Given the description of an element on the screen output the (x, y) to click on. 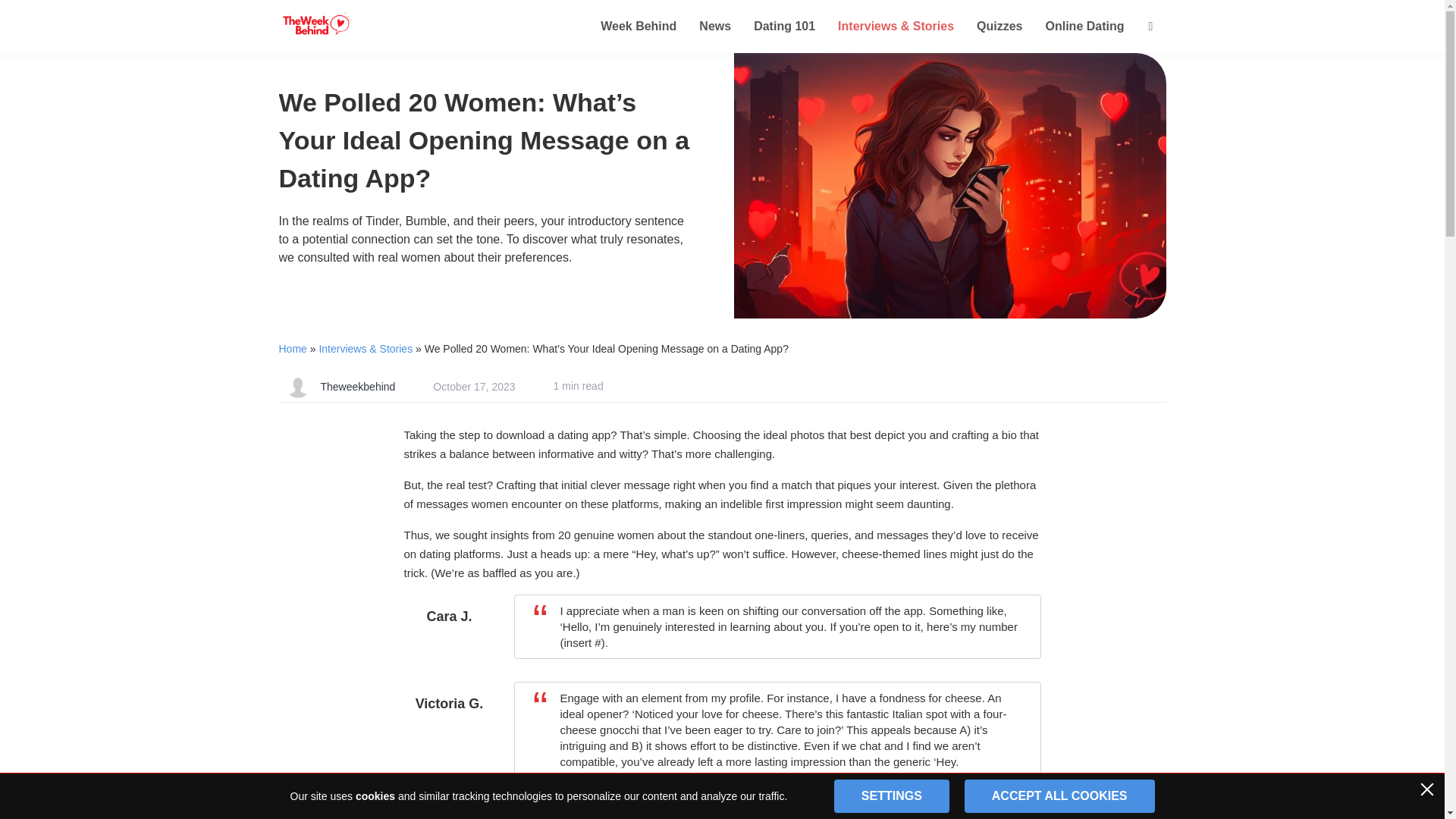
Week Behind (638, 26)
SETTINGS (891, 796)
Theweekbehind (357, 386)
TheWeekBehind (362, 26)
cookies (374, 796)
Dating 101 (784, 26)
ACCEPT ALL COOKIES (1058, 796)
Home (293, 348)
Quizzes (999, 26)
Posts by Theweekbehind (357, 386)
